Given the description of an element on the screen output the (x, y) to click on. 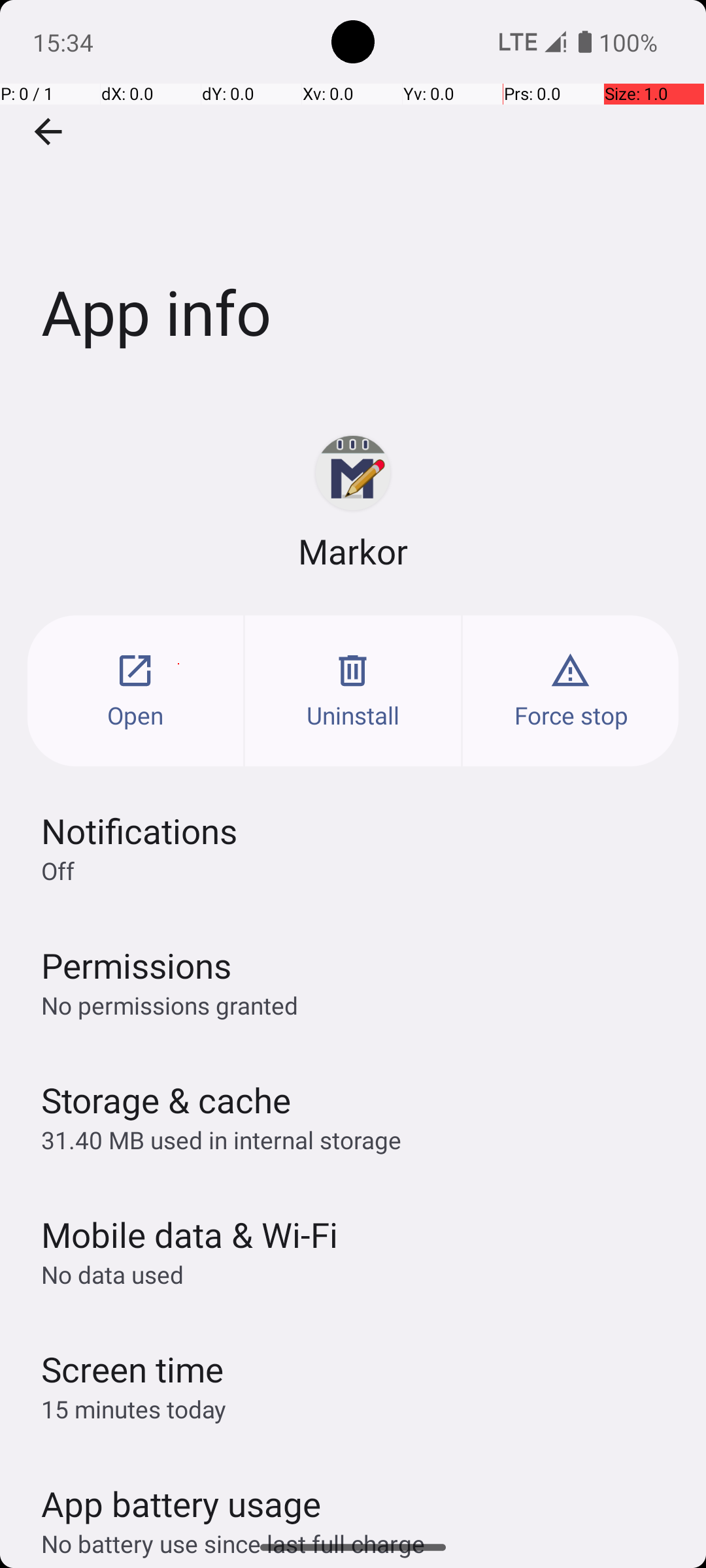
No permissions granted Element type: android.widget.TextView (169, 1004)
31.40 MB used in internal storage Element type: android.widget.TextView (221, 1139)
15 minutes today Element type: android.widget.TextView (133, 1408)
